Given the description of an element on the screen output the (x, y) to click on. 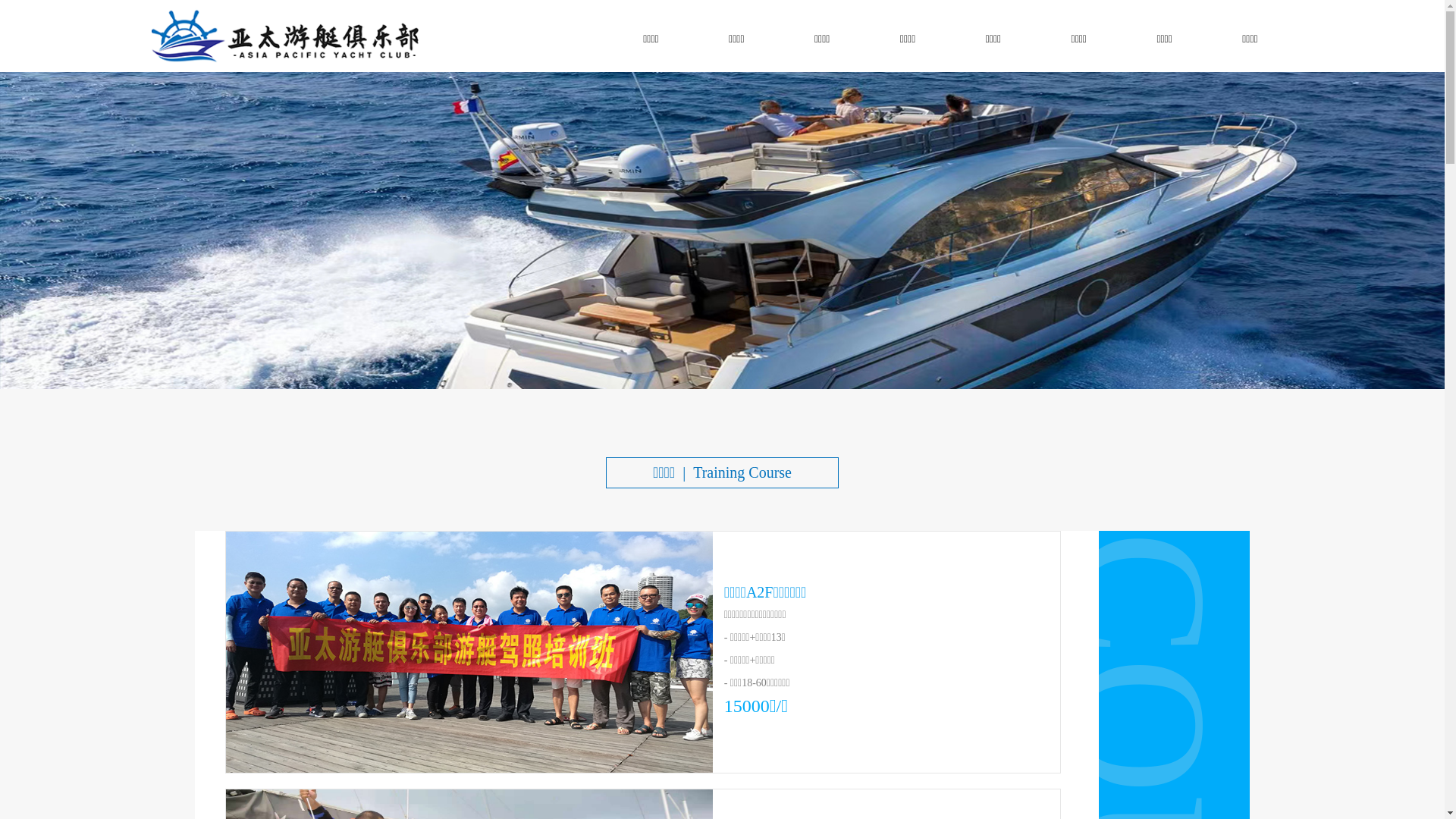
1663851506826317.png Element type: hover (288, 35)
